Given the description of an element on the screen output the (x, y) to click on. 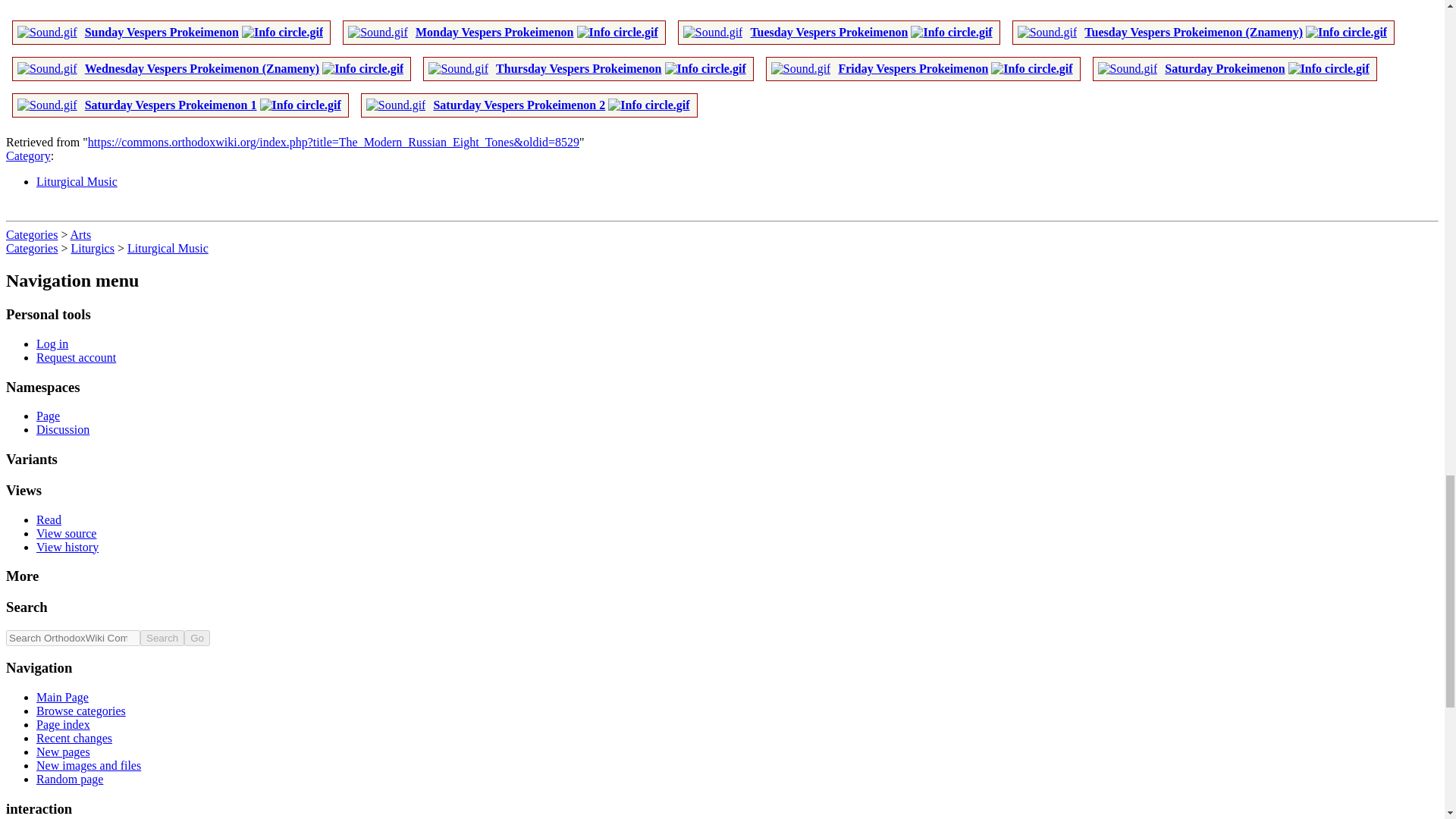
Go (196, 637)
Go (196, 637)
Search (161, 637)
Search (161, 637)
